Given the description of an element on the screen output the (x, y) to click on. 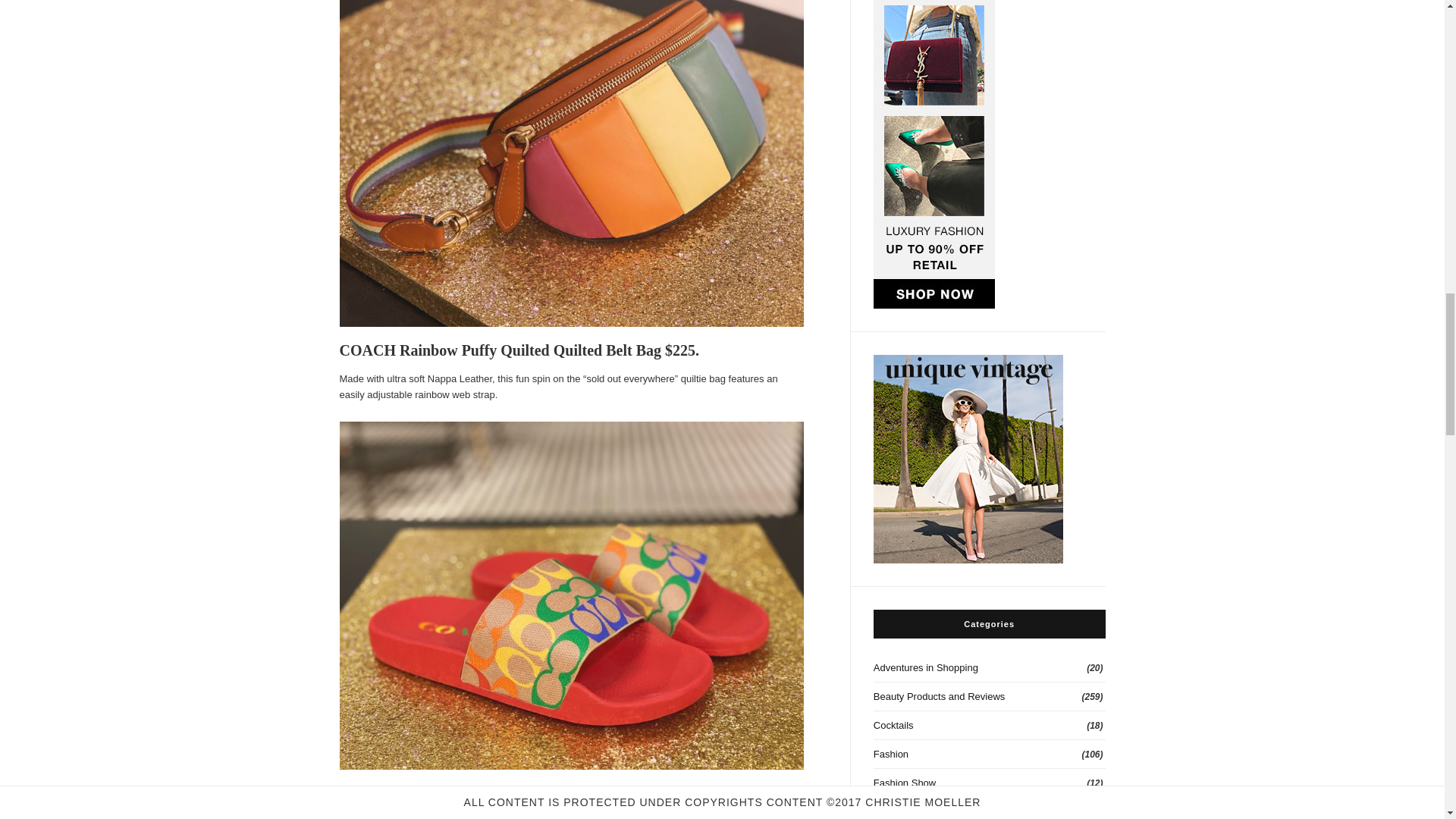
Fashion Show (989, 783)
Beauty Products and Reviews (989, 696)
Cocktails (989, 725)
Adventures in Shopping (989, 667)
Fashion (989, 754)
